Given the description of an element on the screen output the (x, y) to click on. 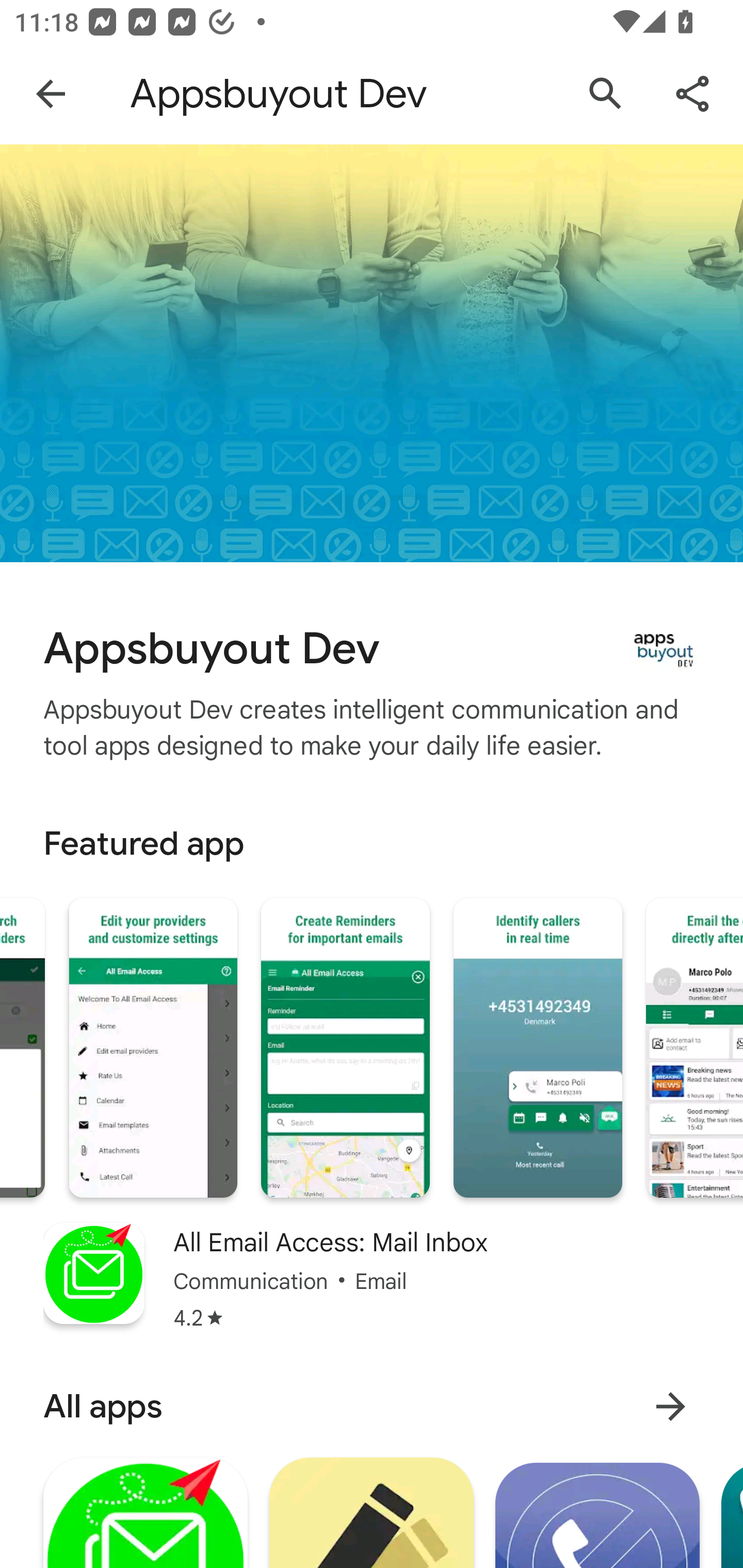
Navigate up (50, 93)
Search Google Play (605, 93)
Share (692, 93)
Screenshot "4" of "7" (152, 1047)
Screenshot "5" of "7" (344, 1047)
Screenshot "6" of "7" (537, 1047)
All apps More results for All apps (371, 1406)
More results for All apps (670, 1406)
